Given the description of an element on the screen output the (x, y) to click on. 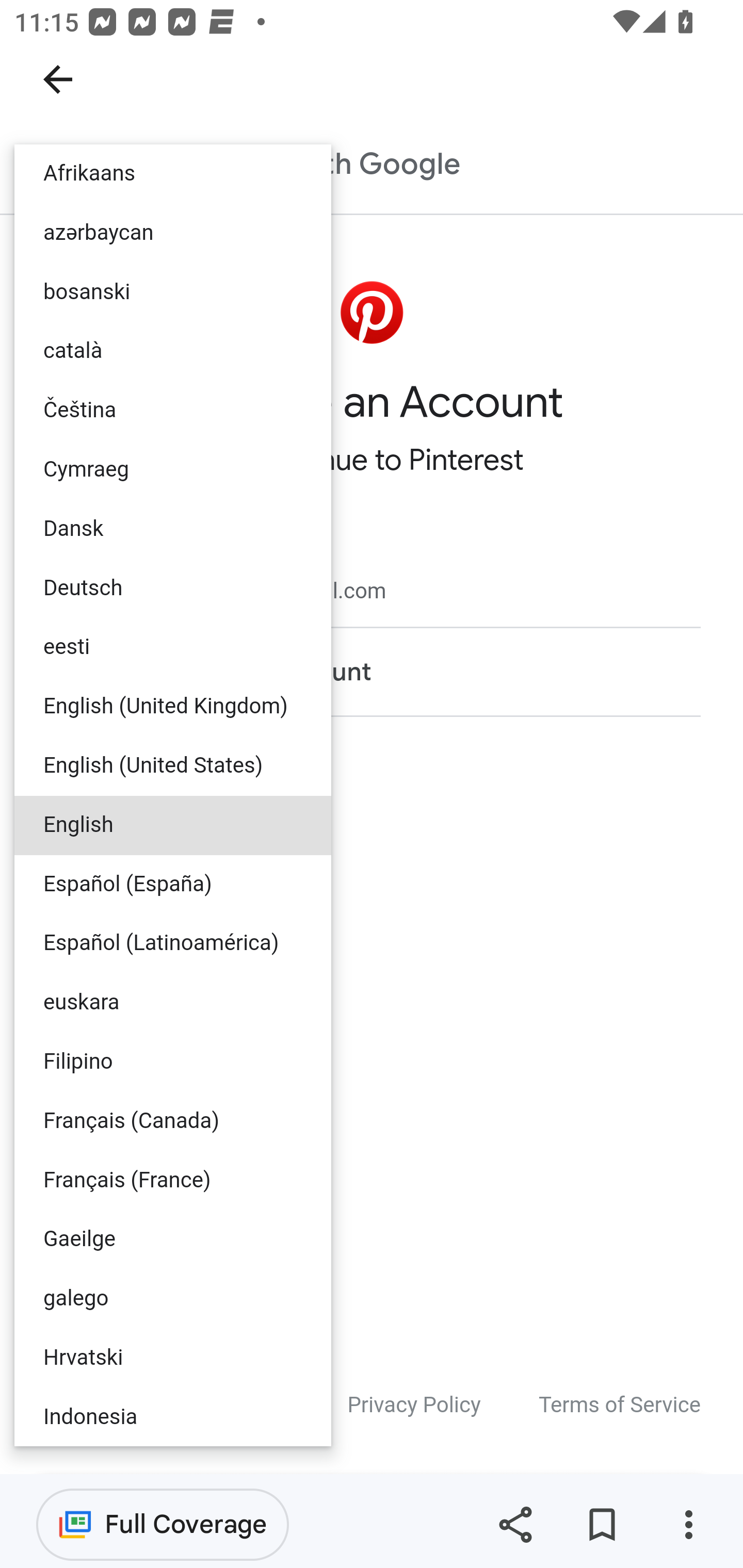
Navigate up (57, 79)
‪Afrikaans‬ (173, 173)
‪azərbaycan‬ (173, 232)
‪bosanski‬ (173, 292)
‪català‬ (173, 351)
‪Čeština‬ (173, 411)
‪Cymraeg‬ (173, 469)
‪Dansk‬ (173, 528)
‪Deutsch‬ (173, 588)
‪eesti‬ (173, 647)
‪English (United Kingdom)‬ (173, 707)
‪English (United States)‬ (173, 764)
‪English‬ (173, 825)
‪Español (España)‬ (173, 883)
‪Español (Latinoamérica)‬ (173, 944)
‪euskara‬ (173, 1003)
‪Filipino‬ (173, 1060)
‪Français (Canada)‬ (173, 1120)
‪Français (France)‬ (173, 1179)
‪Gaeilge‬ (173, 1239)
‪galego‬ (173, 1298)
‪Hrvatski‬ (173, 1356)
Privacy Policy (414, 1405)
Terms of Service (619, 1405)
‪Indonesia‬ (173, 1416)
Share (514, 1524)
Save for later (601, 1524)
More options (688, 1524)
Full Coverage (162, 1524)
